Given the description of an element on the screen output the (x, y) to click on. 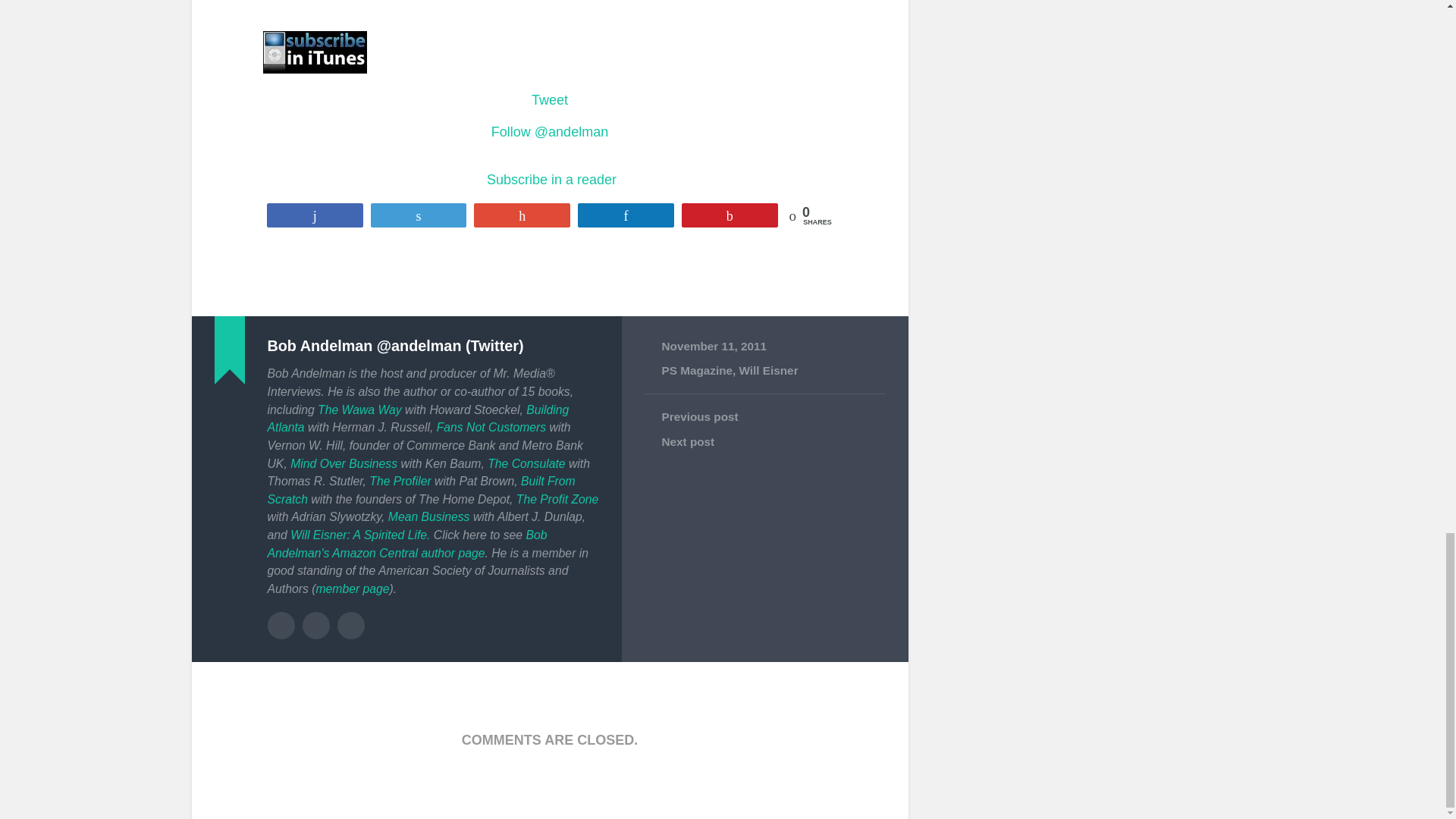
Author website (316, 625)
Subscribe in a reader (550, 179)
Author archive (280, 625)
Tweet (549, 99)
